Given the description of an element on the screen output the (x, y) to click on. 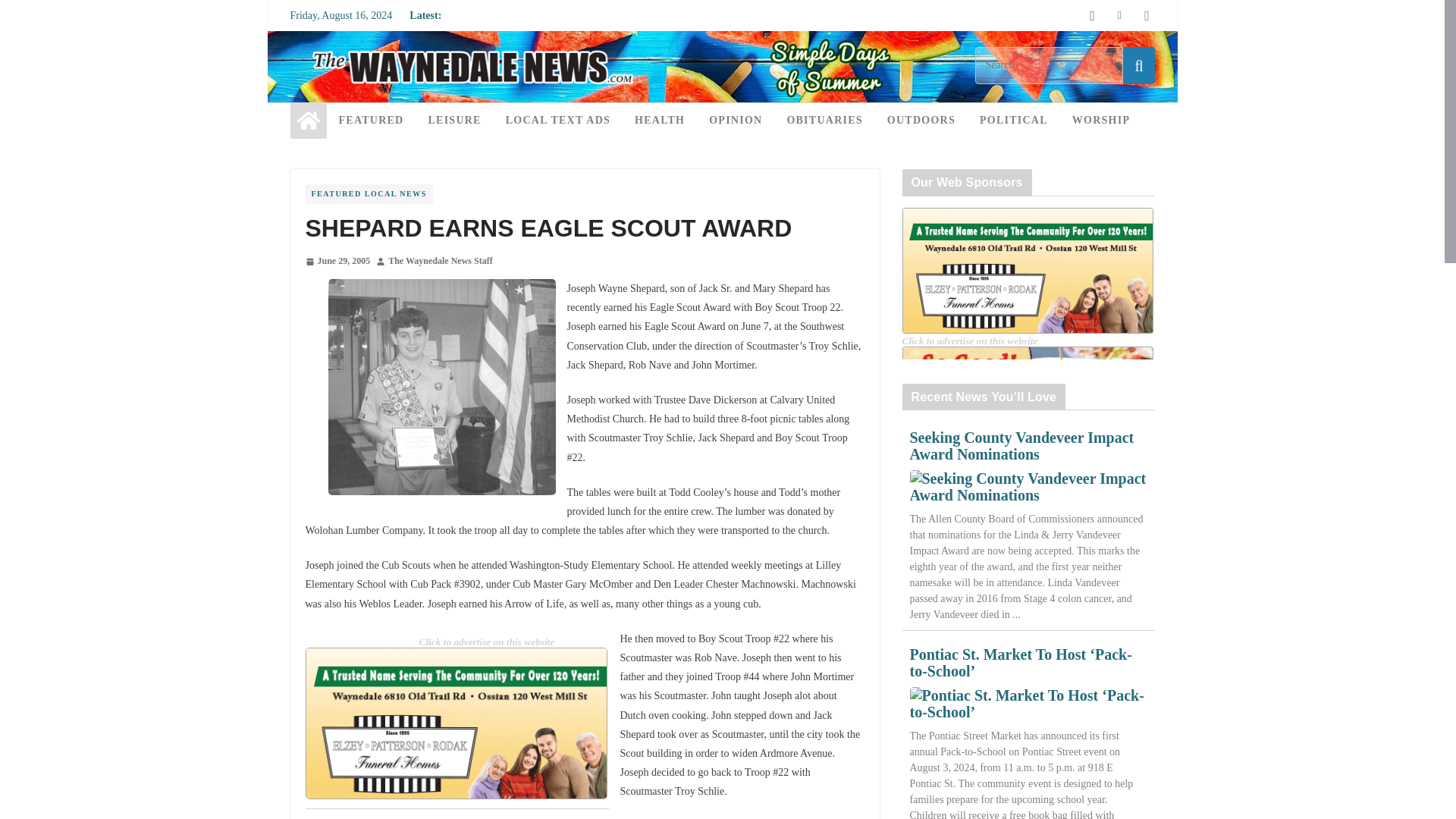
WORSHIP (1100, 120)
The Waynedale News Staff (440, 261)
HEALTH (659, 120)
The Waynedale News (307, 120)
FEATURED (370, 120)
OPINION (735, 120)
5:00 am (336, 261)
The Waynedale News (721, 41)
OUTDOORS (920, 120)
Click to advertise on this website (486, 641)
